Given the description of an element on the screen output the (x, y) to click on. 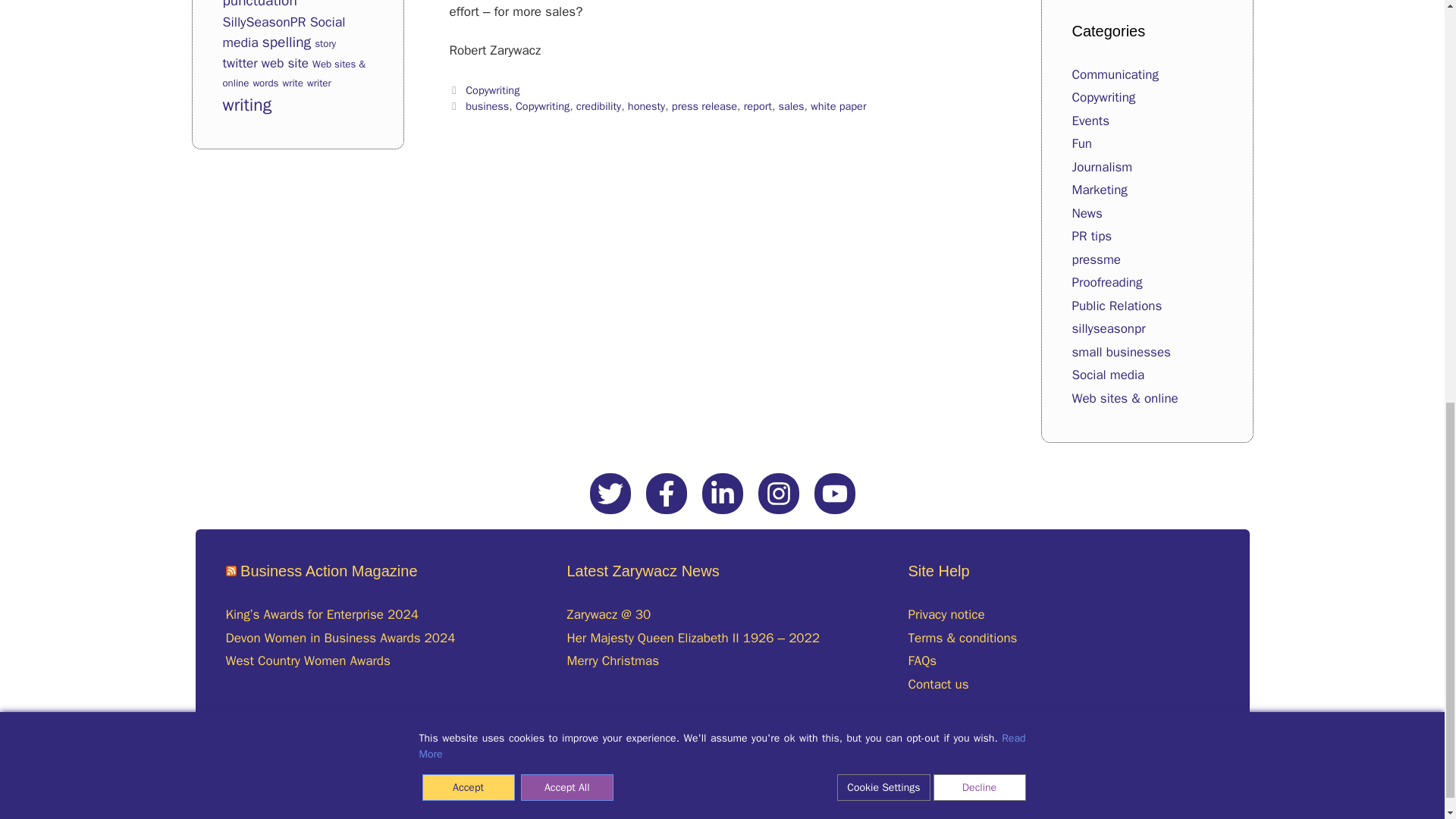
Scroll back to top (1406, 727)
